Given the description of an element on the screen output the (x, y) to click on. 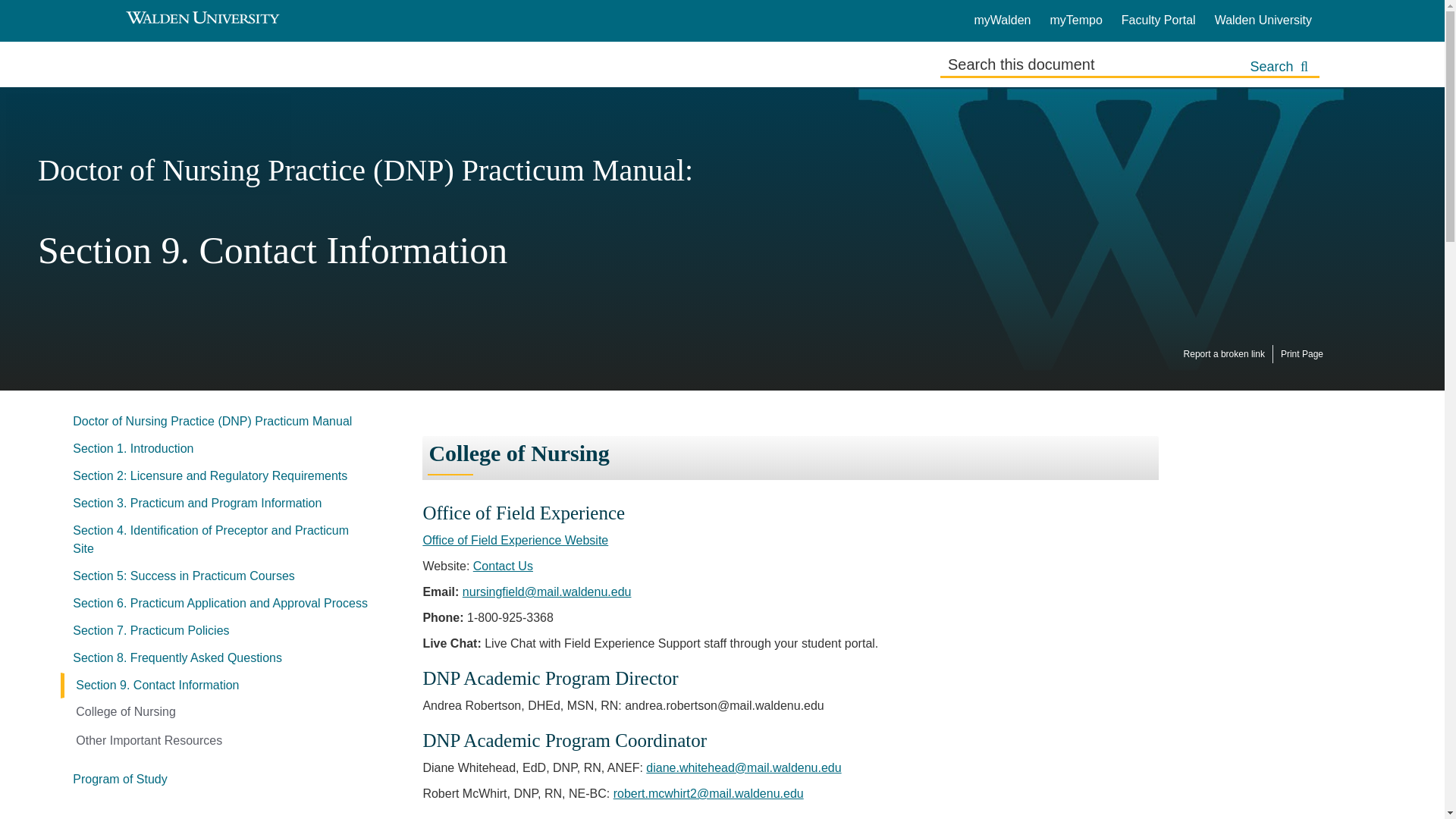
myTempo (1075, 19)
Office of Field Experience Website (515, 540)
Section 4. Identification of Preceptor and Practicum Site (220, 539)
Section 1. Introduction (220, 448)
Contact Us (502, 565)
College of Nursing (125, 711)
Section 6. Practicum Application and Approval Process (220, 603)
myWalden (1002, 19)
Report a broken link (1224, 353)
Section 5: Success in Practicum Courses (220, 575)
Section 7. Practicum Policies (220, 630)
Faculty Portal (1158, 19)
Walden University (1262, 19)
Print Page (1301, 353)
Section 9. Contact Information (220, 685)
